Given the description of an element on the screen output the (x, y) to click on. 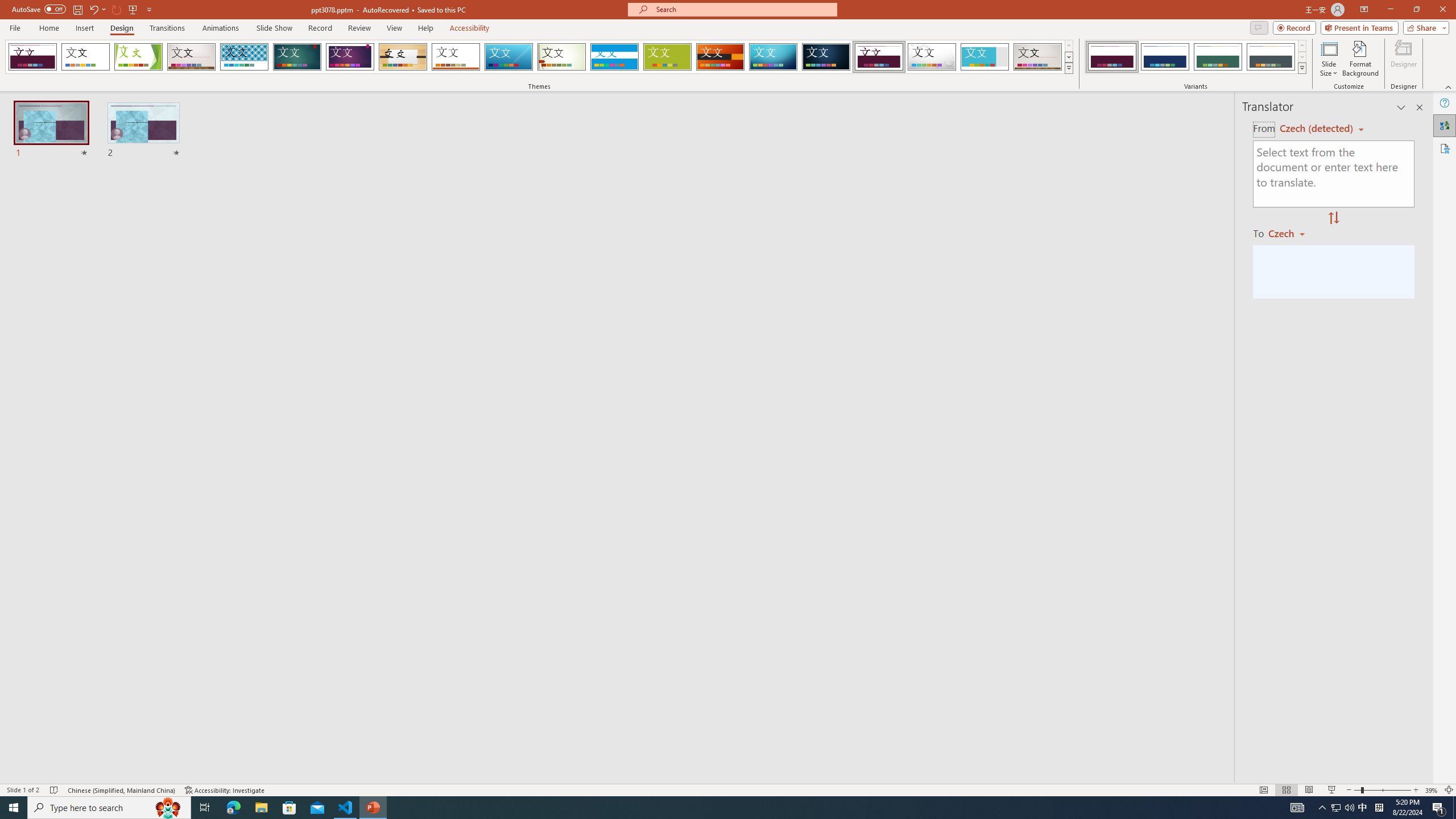
Integral (244, 56)
Format Background (1360, 58)
Dividend Variant 2 (1164, 56)
Dividend Variant 1 (1112, 56)
Dividend (879, 56)
